Given the description of an element on the screen output the (x, y) to click on. 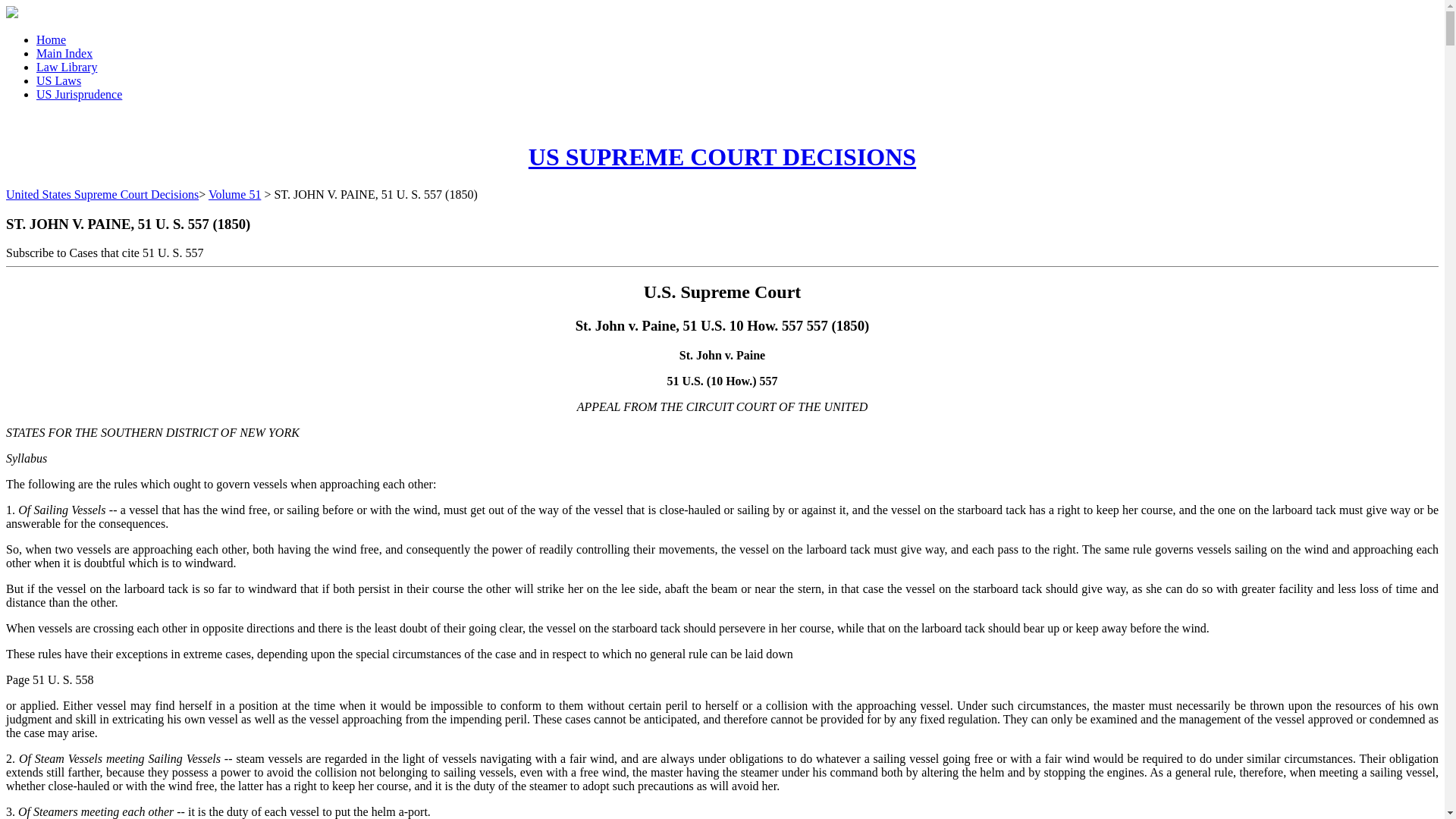
US Jurisprudence (79, 93)
Law Library (66, 66)
Page 51 U. S. 558 (49, 679)
United States Supreme Court Decisions - On-Line (721, 156)
US SUPREME COURT DECISIONS (721, 156)
US Laws (58, 80)
Home (50, 39)
United States Supreme Court Decisions (101, 194)
Volume 51 (234, 194)
Main Index (64, 52)
